Given the description of an element on the screen output the (x, y) to click on. 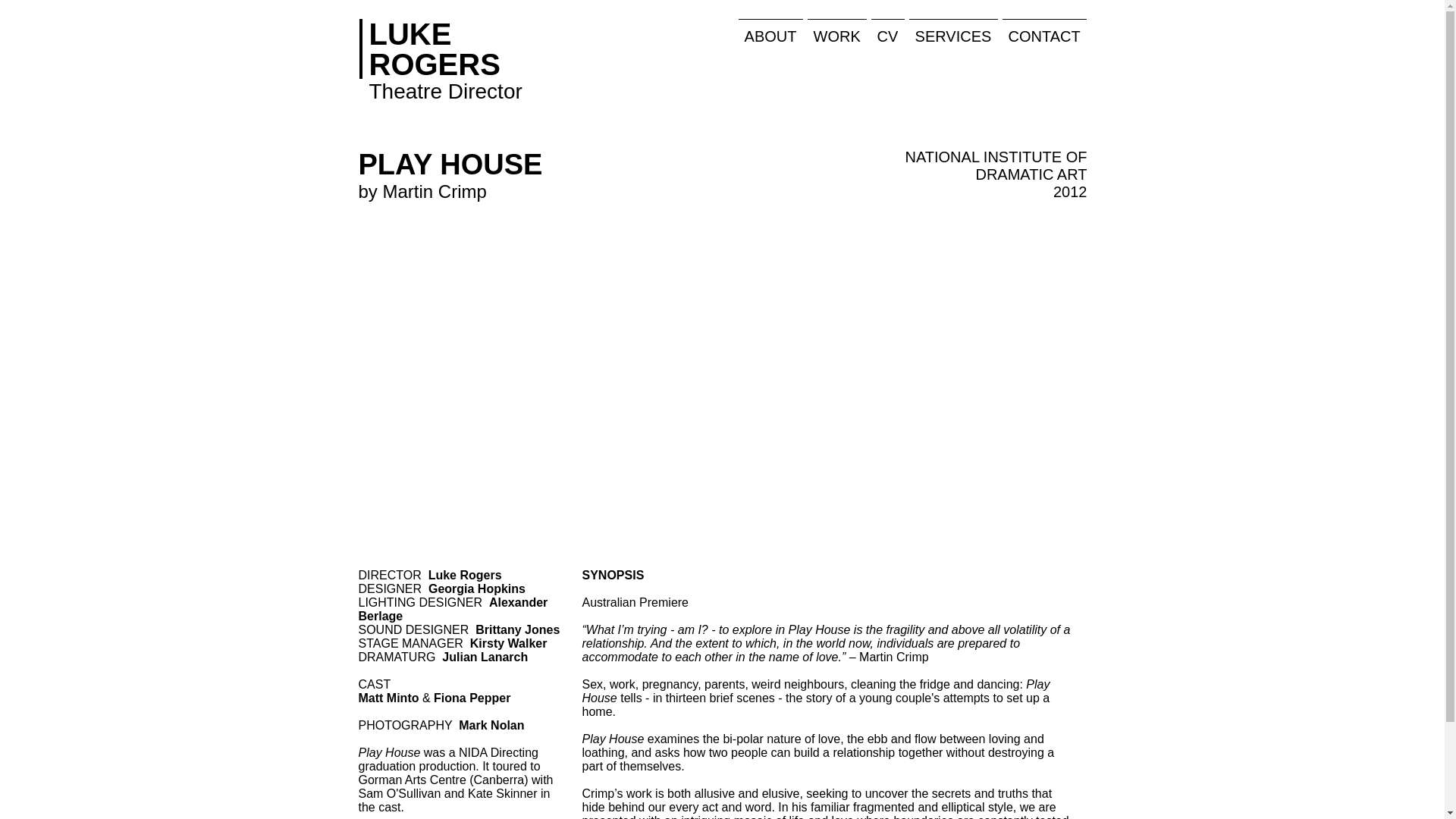
CONTACT Element type: text (1043, 29)
Theatre Director Element type: text (444, 91)
CV Element type: text (887, 29)
LUKE ROGERS Element type: text (433, 49)
ABOUT Element type: text (769, 29)
